Given the description of an element on the screen output the (x, y) to click on. 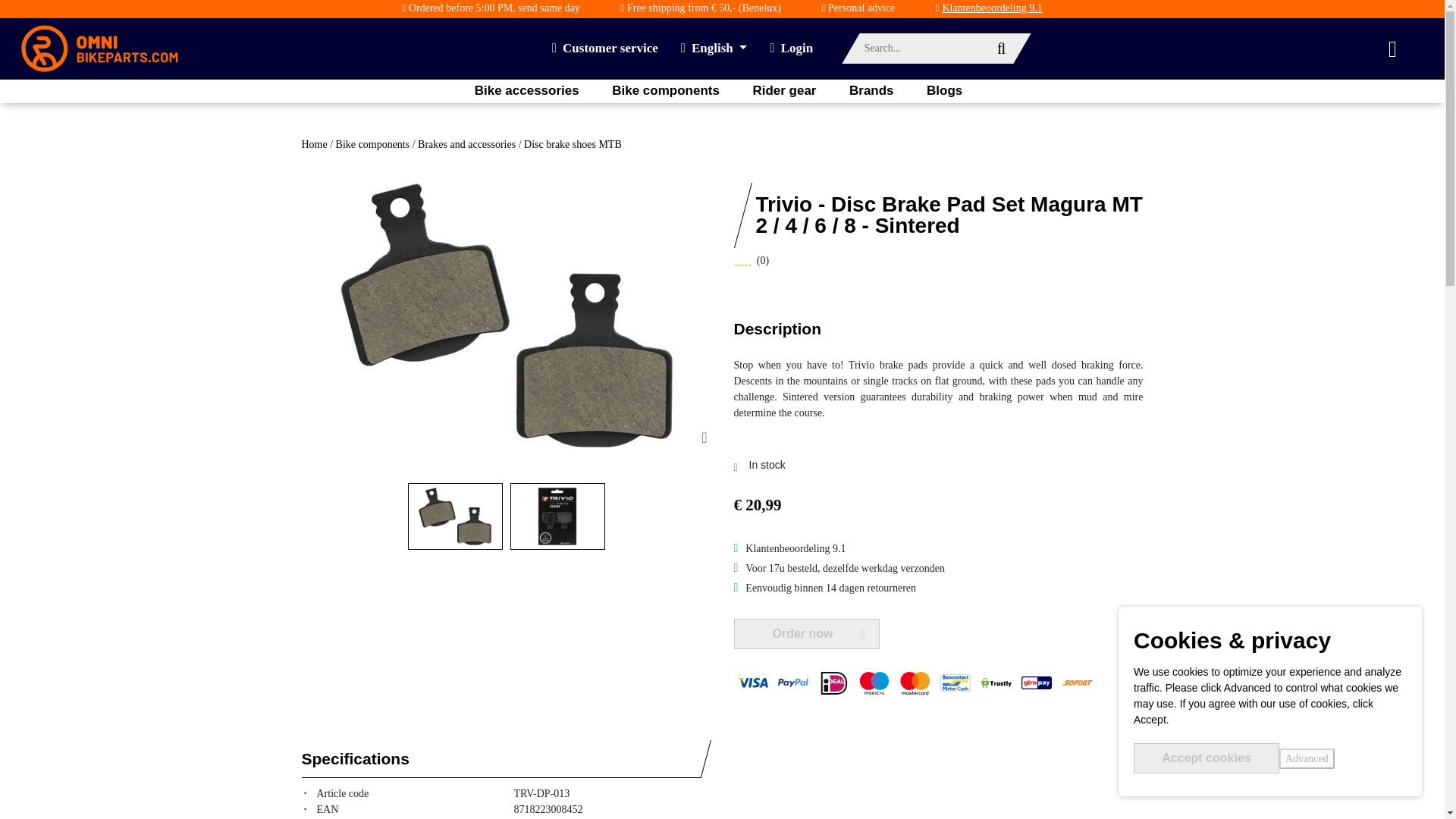
Customer service (604, 48)
Bike accessories (527, 91)
English (714, 48)
Klantenbeoordeling 9.1 (992, 7)
View basket (1406, 48)
Login (791, 48)
